Given the description of an element on the screen output the (x, y) to click on. 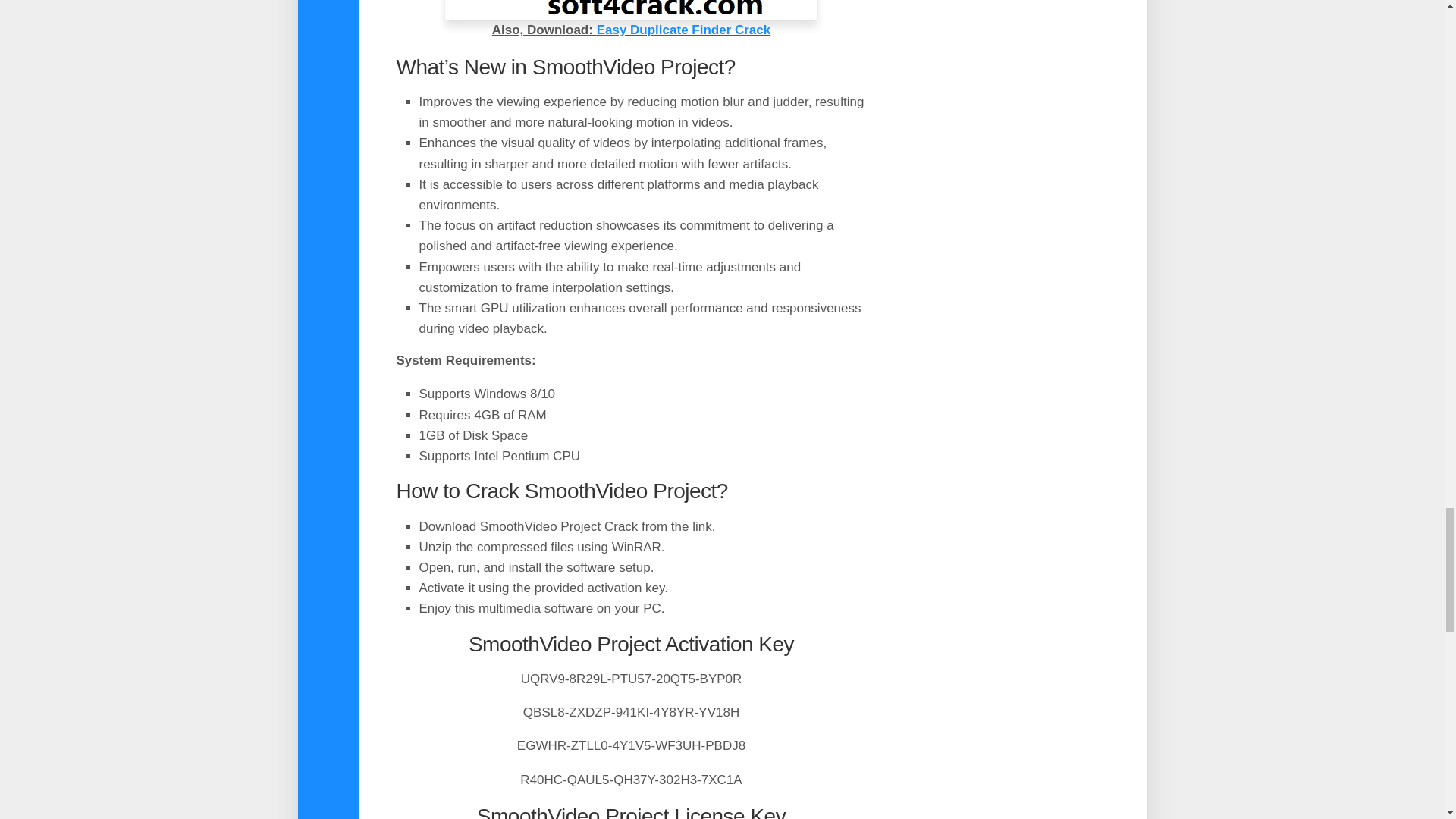
Easy Duplicate Finder Crack (683, 29)
